Given the description of an element on the screen output the (x, y) to click on. 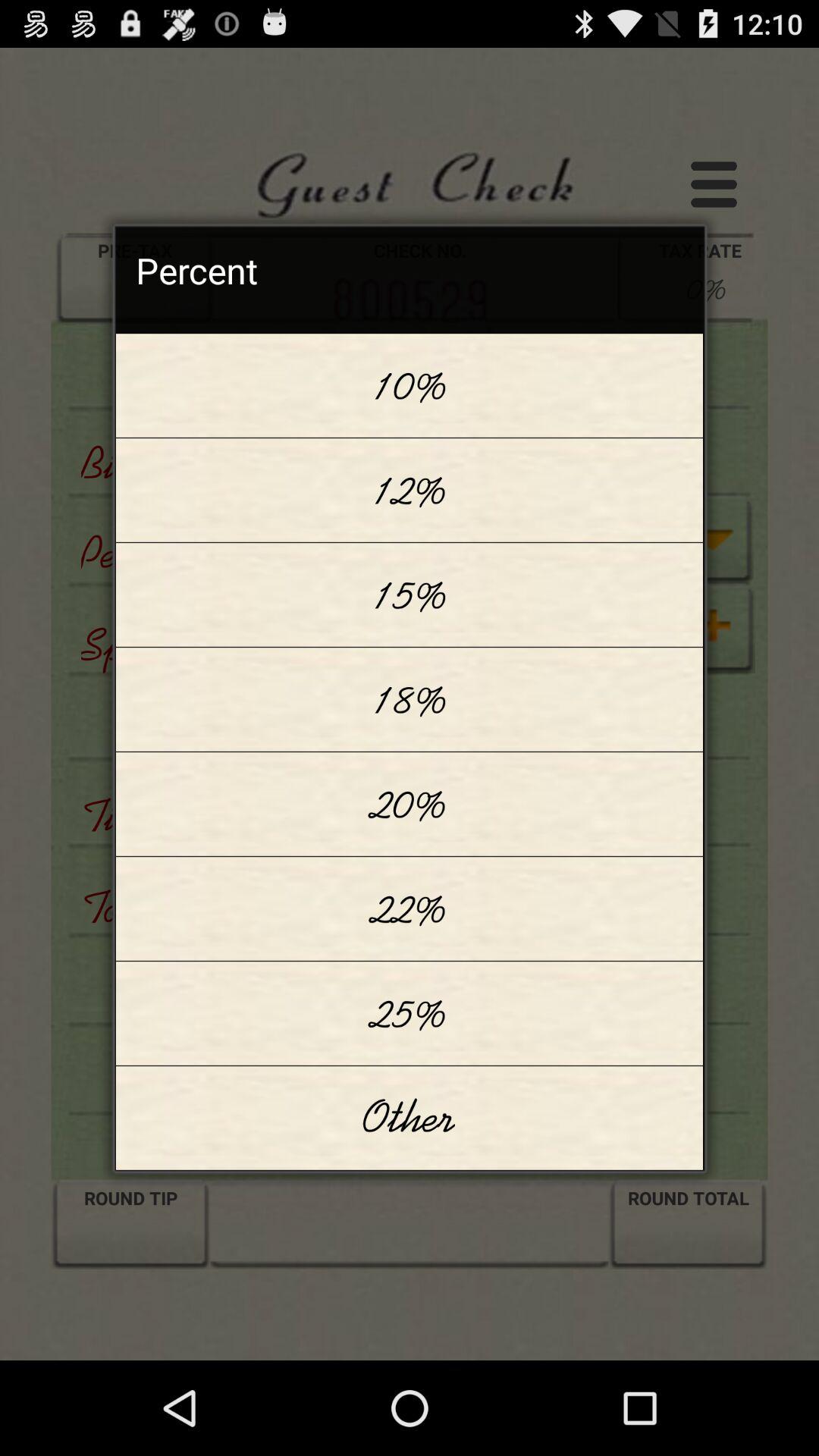
scroll until 15% item (409, 594)
